Given the description of an element on the screen output the (x, y) to click on. 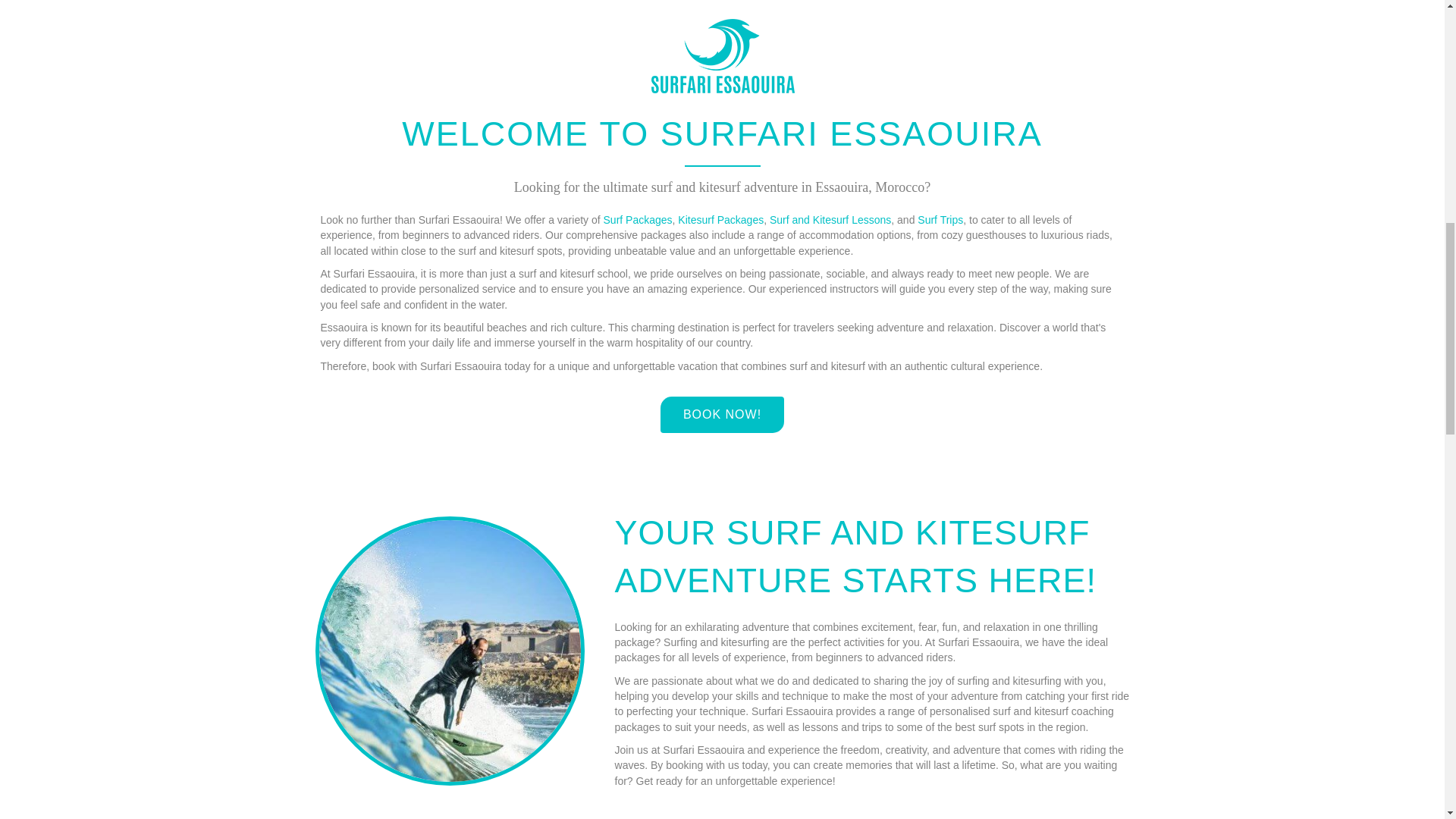
Surf and Kitesurf Lessons (830, 219)
logo-surfariessaouira-ver2-tran-200px (721, 56)
Kitesurf Packages (720, 219)
Surf Packages (638, 219)
Surfari Essaouira Morocco (450, 650)
Surf Trips (938, 219)
BOOK NOW! (722, 414)
